Given the description of an element on the screen output the (x, y) to click on. 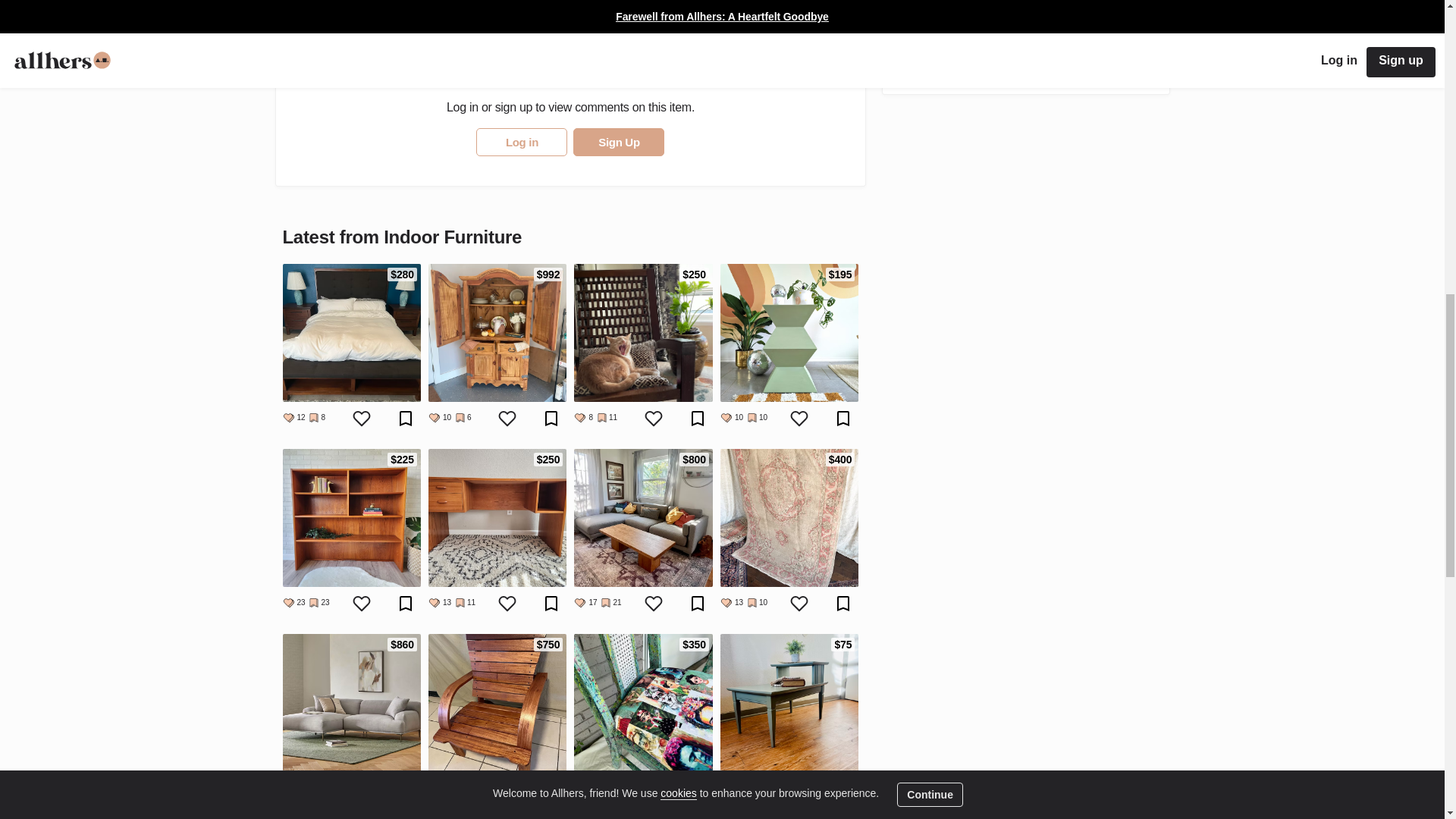
Wren F (955, 2)
Log in (521, 141)
Wren F (913, 11)
Sign Up (618, 141)
